Given the description of an element on the screen output the (x, y) to click on. 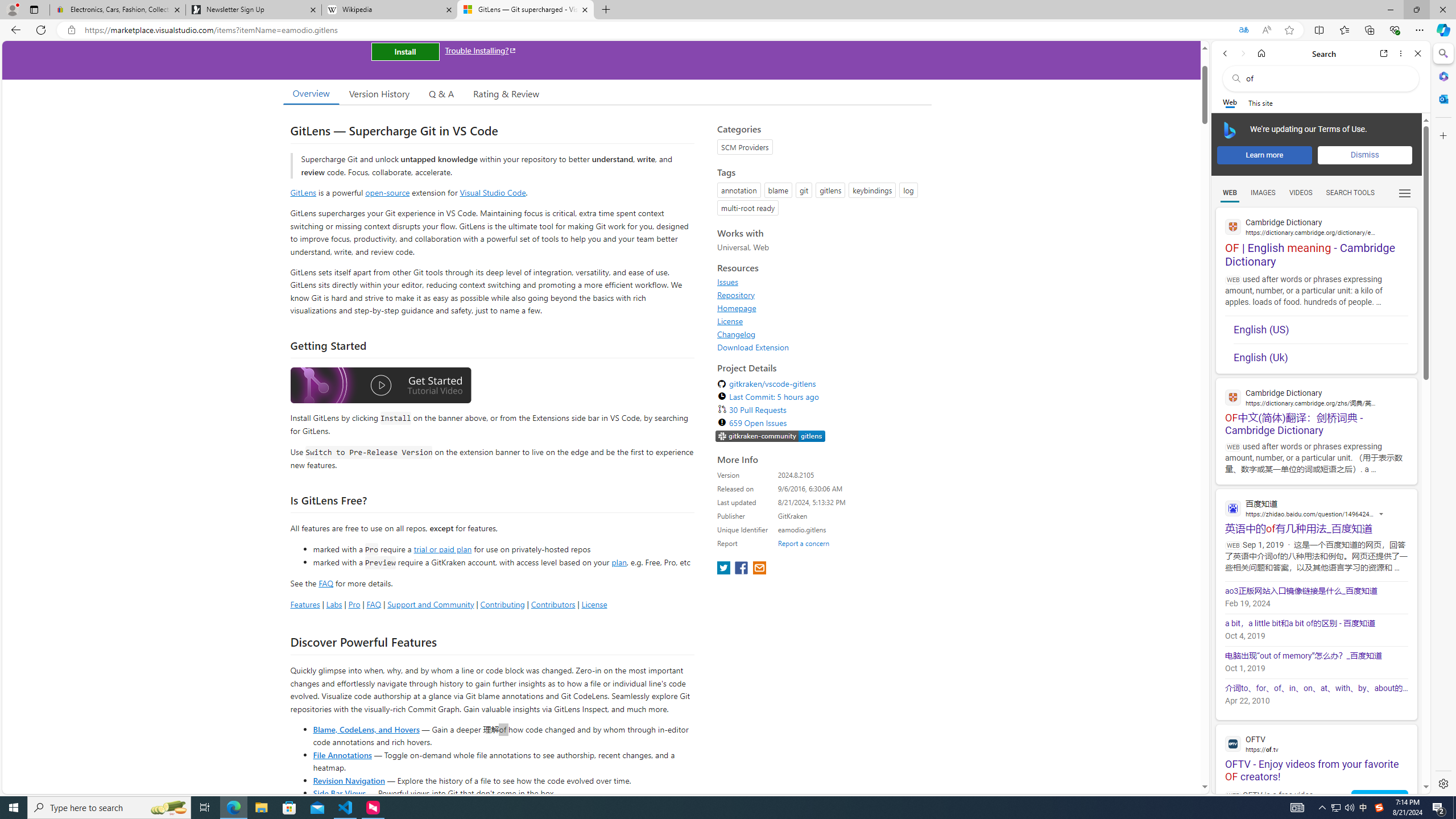
Class: b_serphb (1404, 193)
share extension on facebook (742, 568)
Version History (379, 92)
Search Filter, VIDEOS (1300, 192)
Web scope (1230, 102)
Issues (727, 281)
Contributors (552, 603)
